Given the description of an element on the screen output the (x, y) to click on. 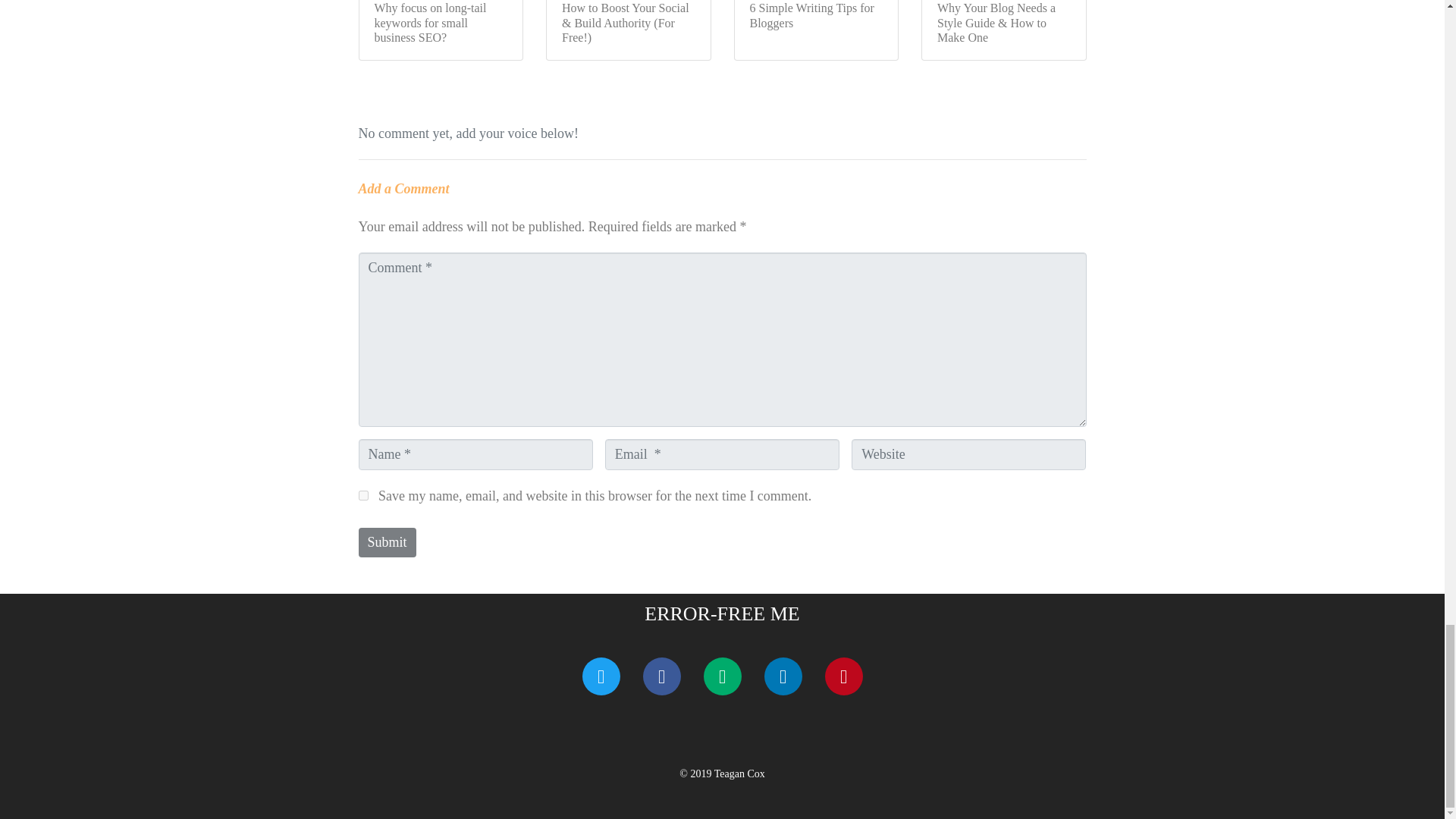
Why focus on long-tail keywords for small business SEO? (440, 30)
6 Simple Writing Tips for Bloggers (816, 30)
Submit (386, 542)
yes (363, 495)
